Given the description of an element on the screen output the (x, y) to click on. 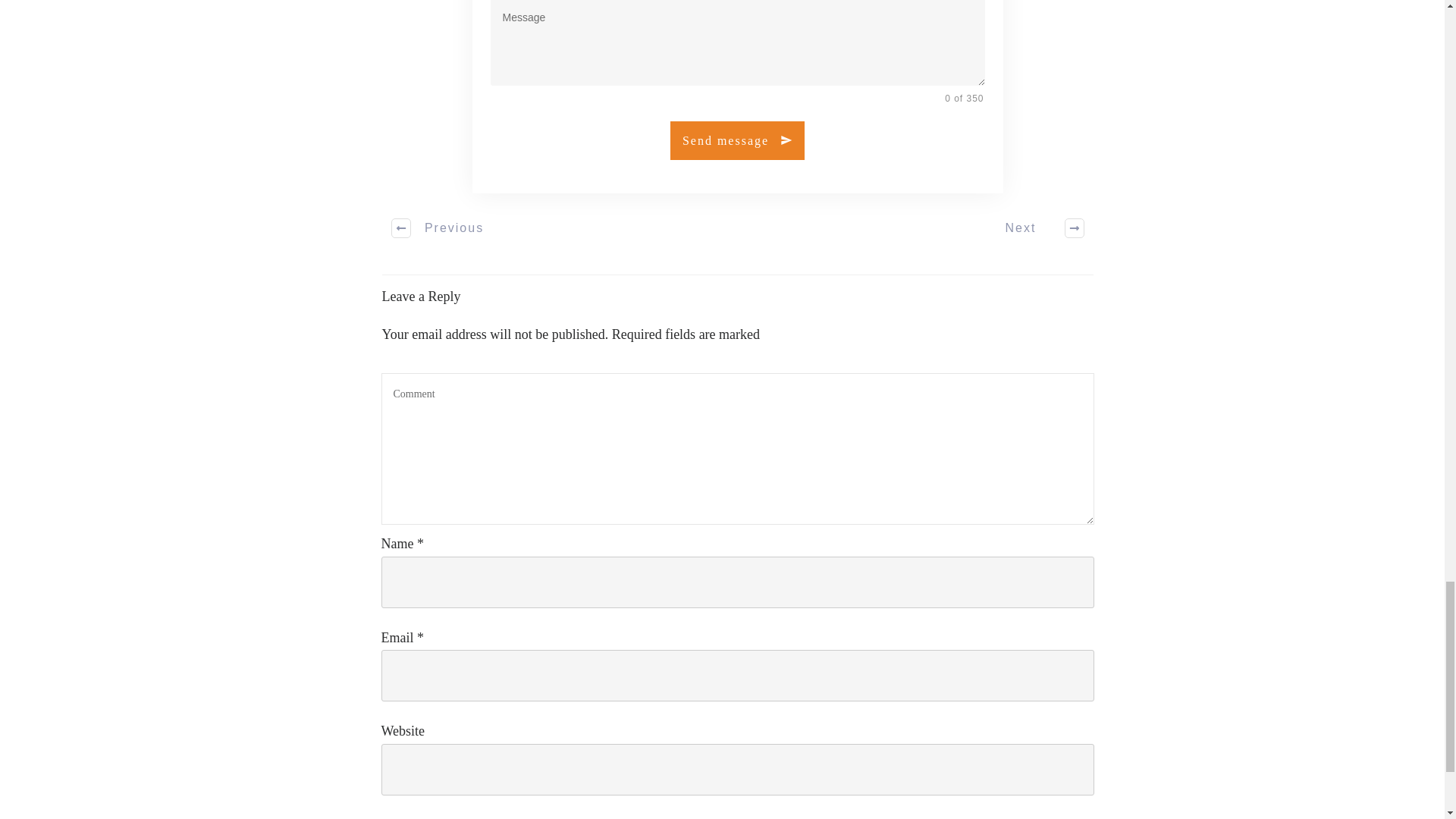
Send message (737, 140)
Next (1036, 228)
Previous (438, 228)
